Given the description of an element on the screen output the (x, y) to click on. 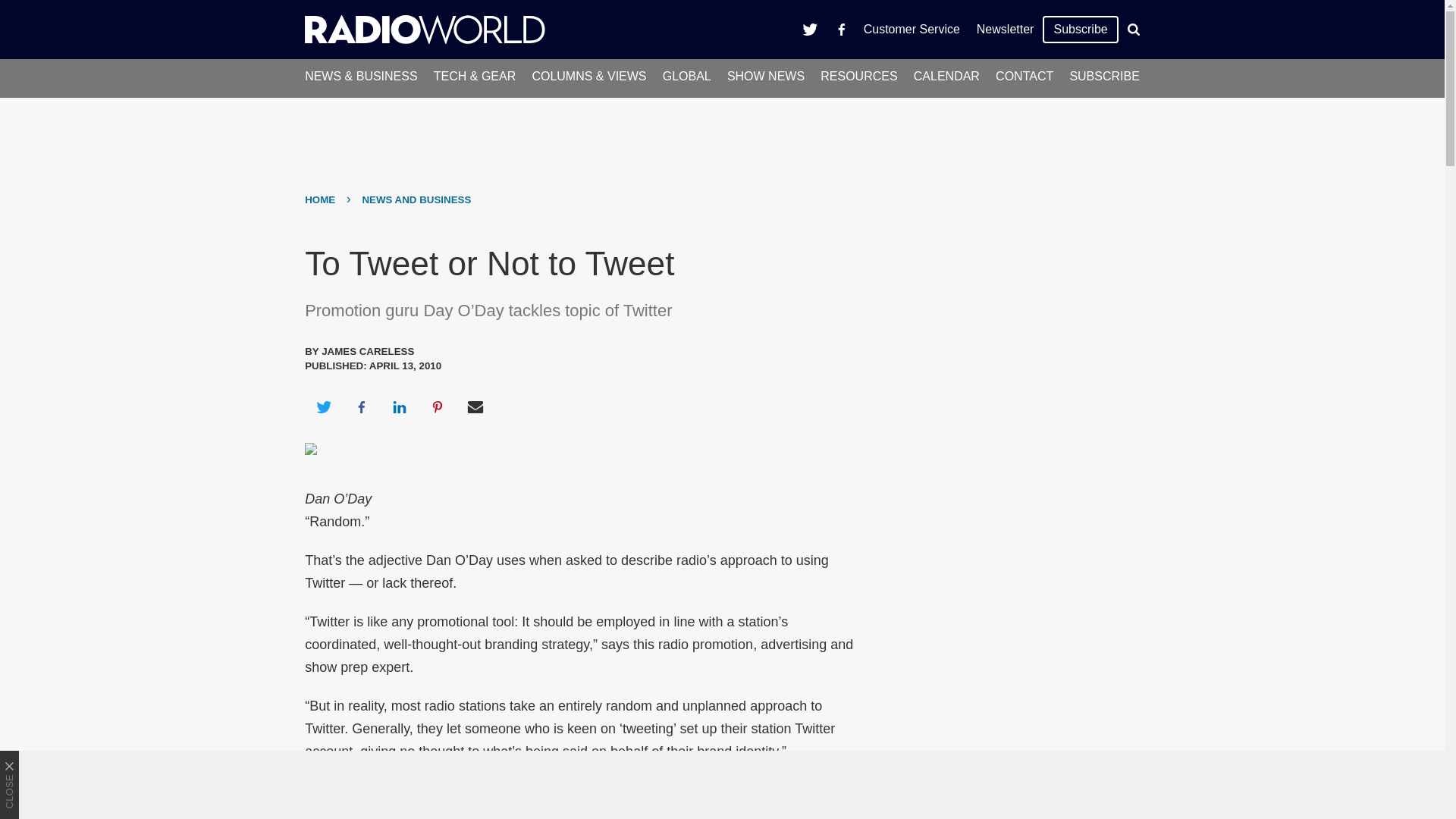
Customer Service (912, 29)
Share on Pinterest (438, 406)
Share via Email (476, 406)
Share on Facebook (361, 406)
Share on Twitter (323, 406)
Share on LinkedIn (399, 406)
